Given the description of an element on the screen output the (x, y) to click on. 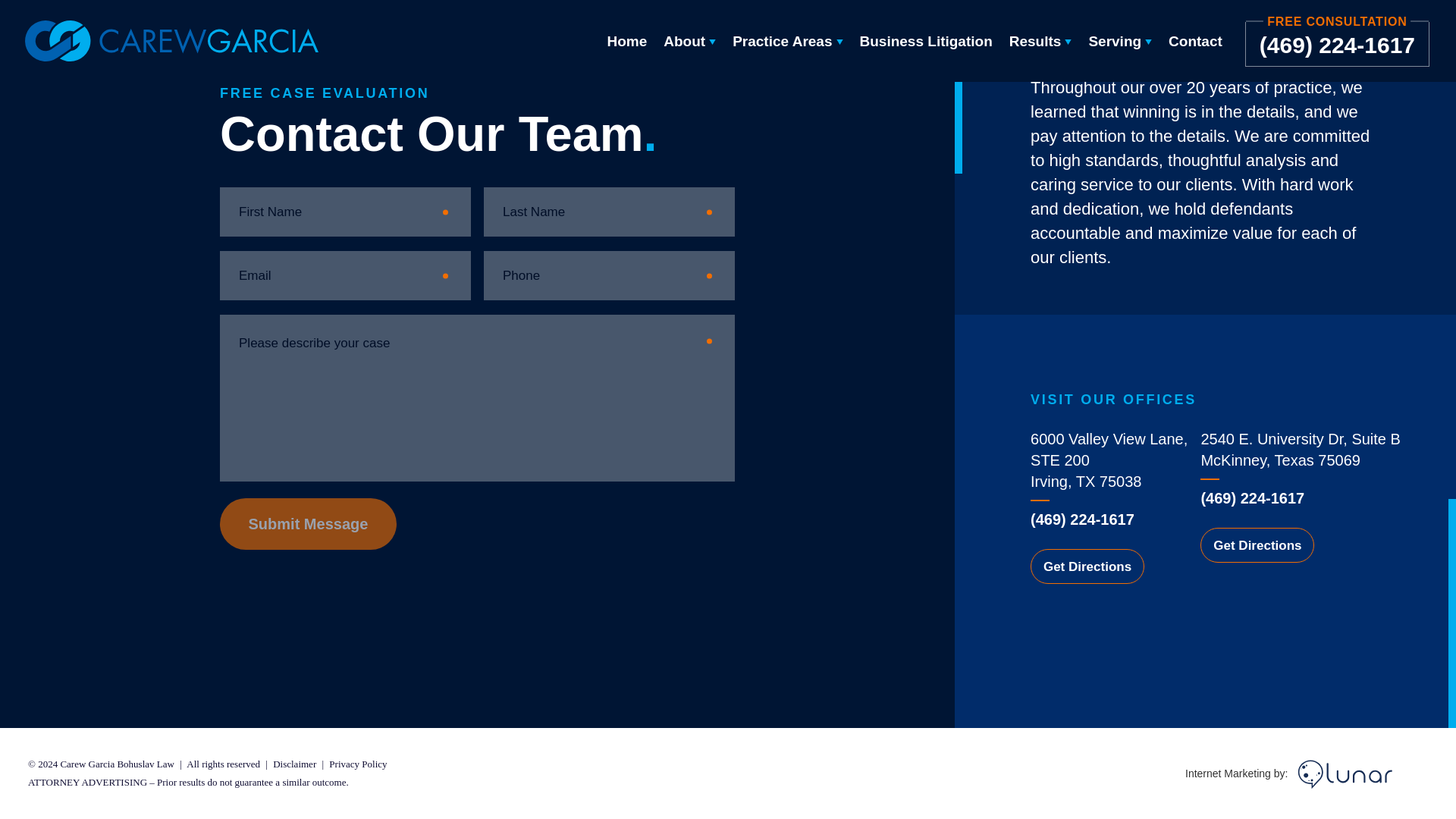
Internet Marketing by: (1306, 773)
Submit Message (307, 523)
Submit Message (307, 523)
Get Directions (1256, 544)
Disclaimer (295, 763)
Privacy Policy (358, 763)
Get Directions (1087, 565)
